Given the description of an element on the screen output the (x, y) to click on. 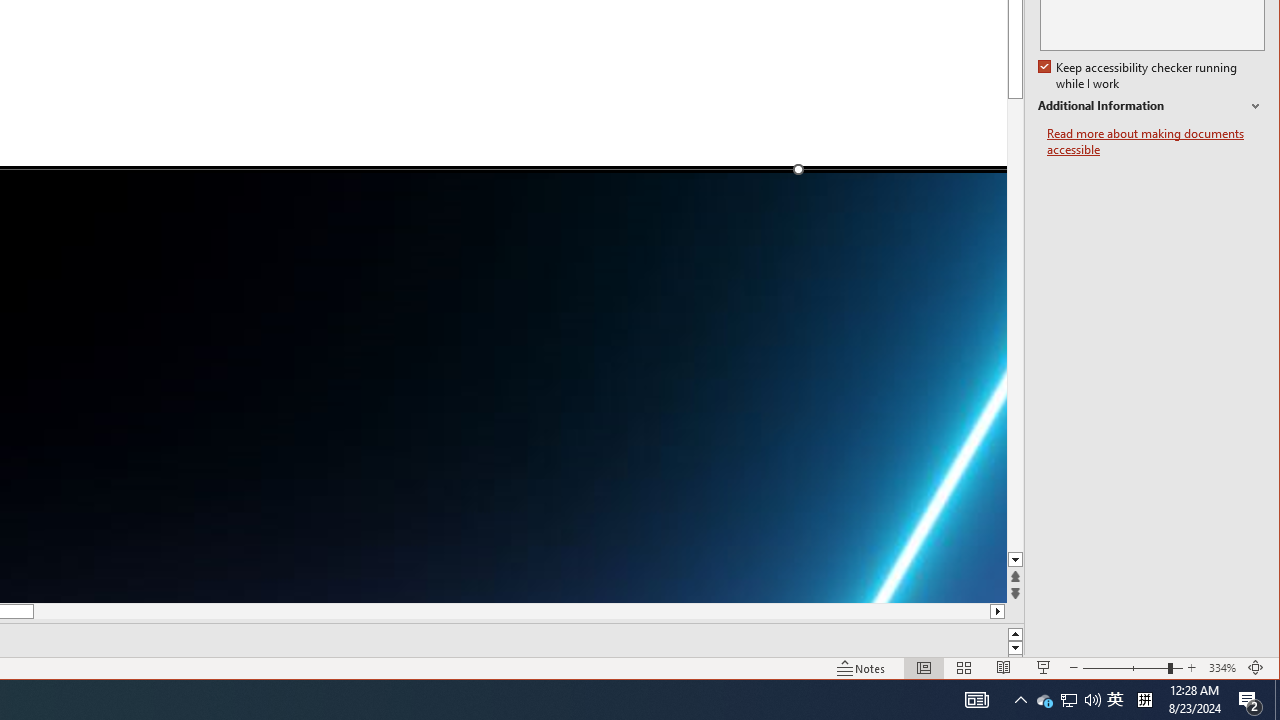
Additional Information (1044, 699)
Read more about making documents accessible (1151, 106)
Tray Input Indicator - Chinese (Simplified, China) (1155, 142)
Notification Chevron (1069, 699)
